Given the description of an element on the screen output the (x, y) to click on. 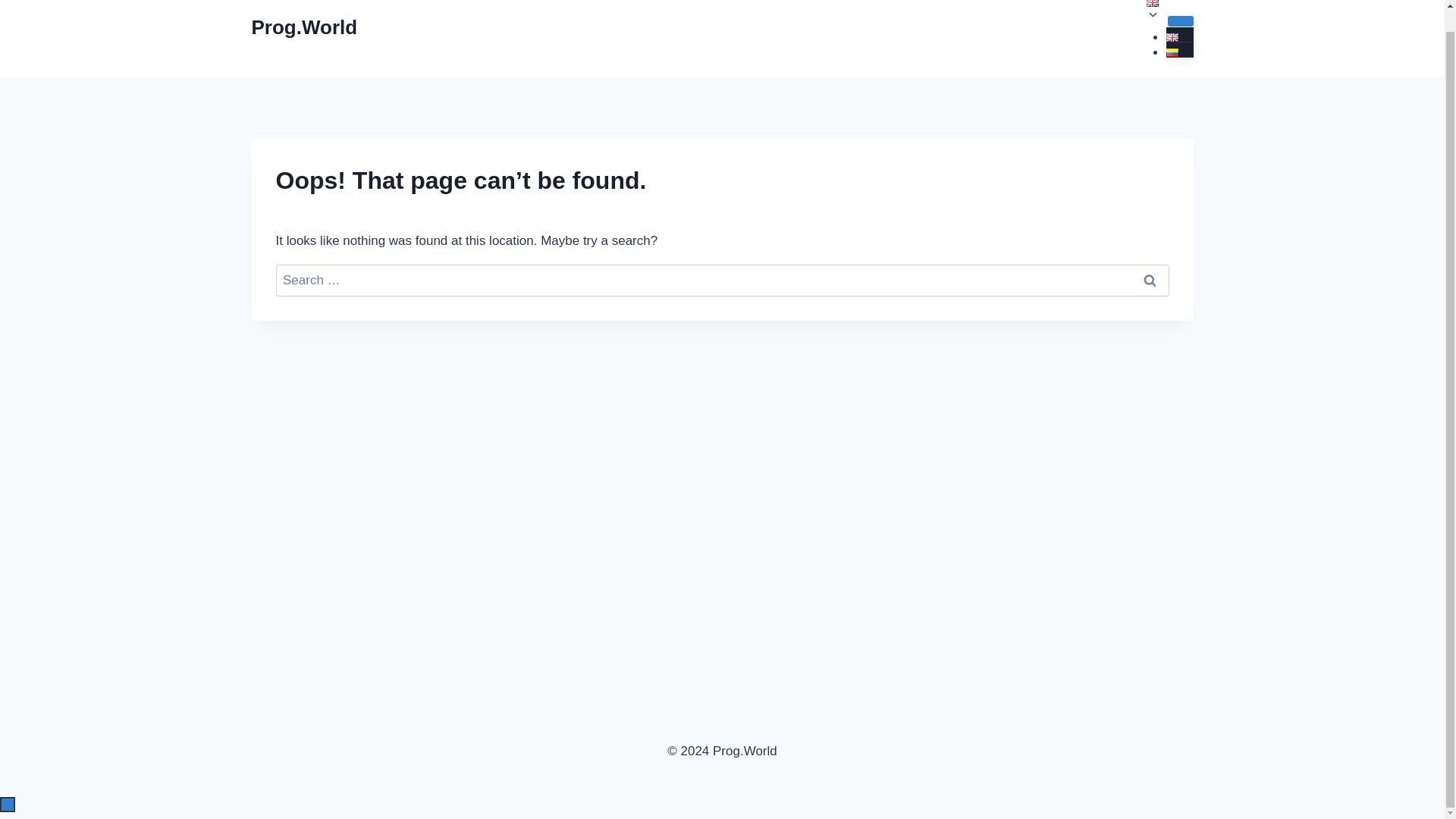
Prog.World (304, 27)
Search (1150, 280)
Search (1150, 280)
Search (1150, 280)
